Given the description of an element on the screen output the (x, y) to click on. 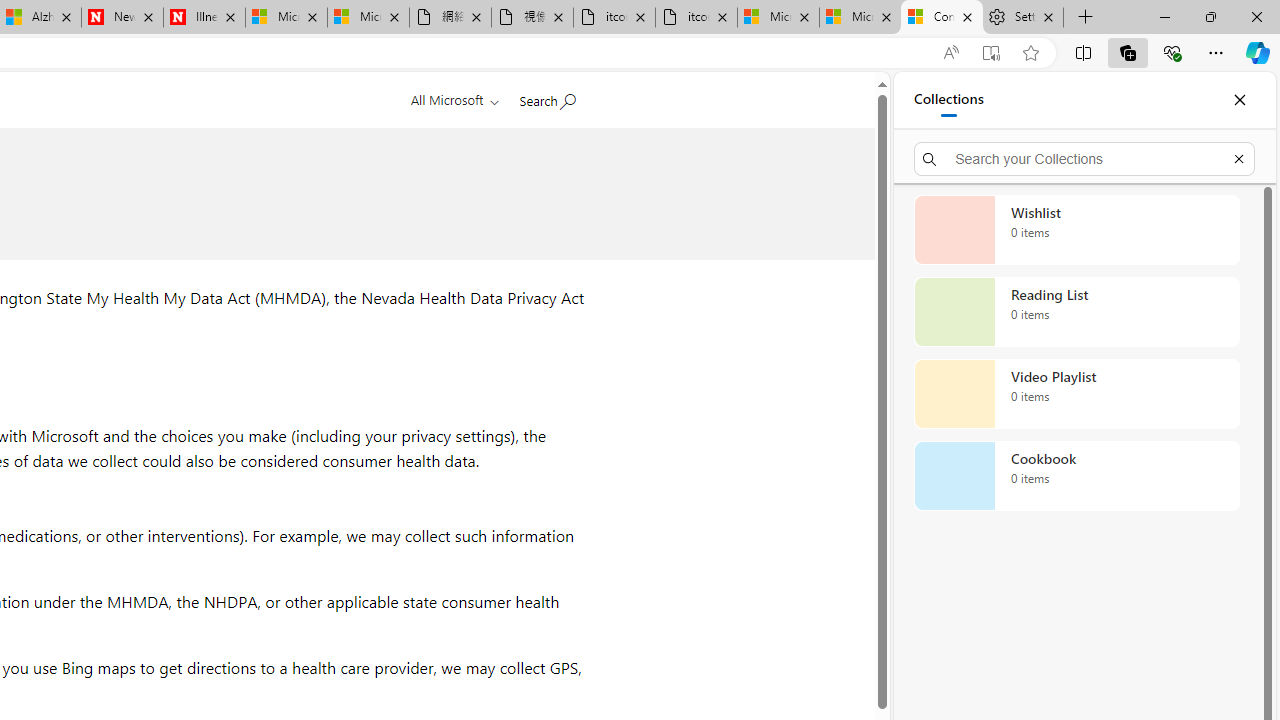
Video Playlist collection, 0 items (1076, 394)
